Given the description of an element on the screen output the (x, y) to click on. 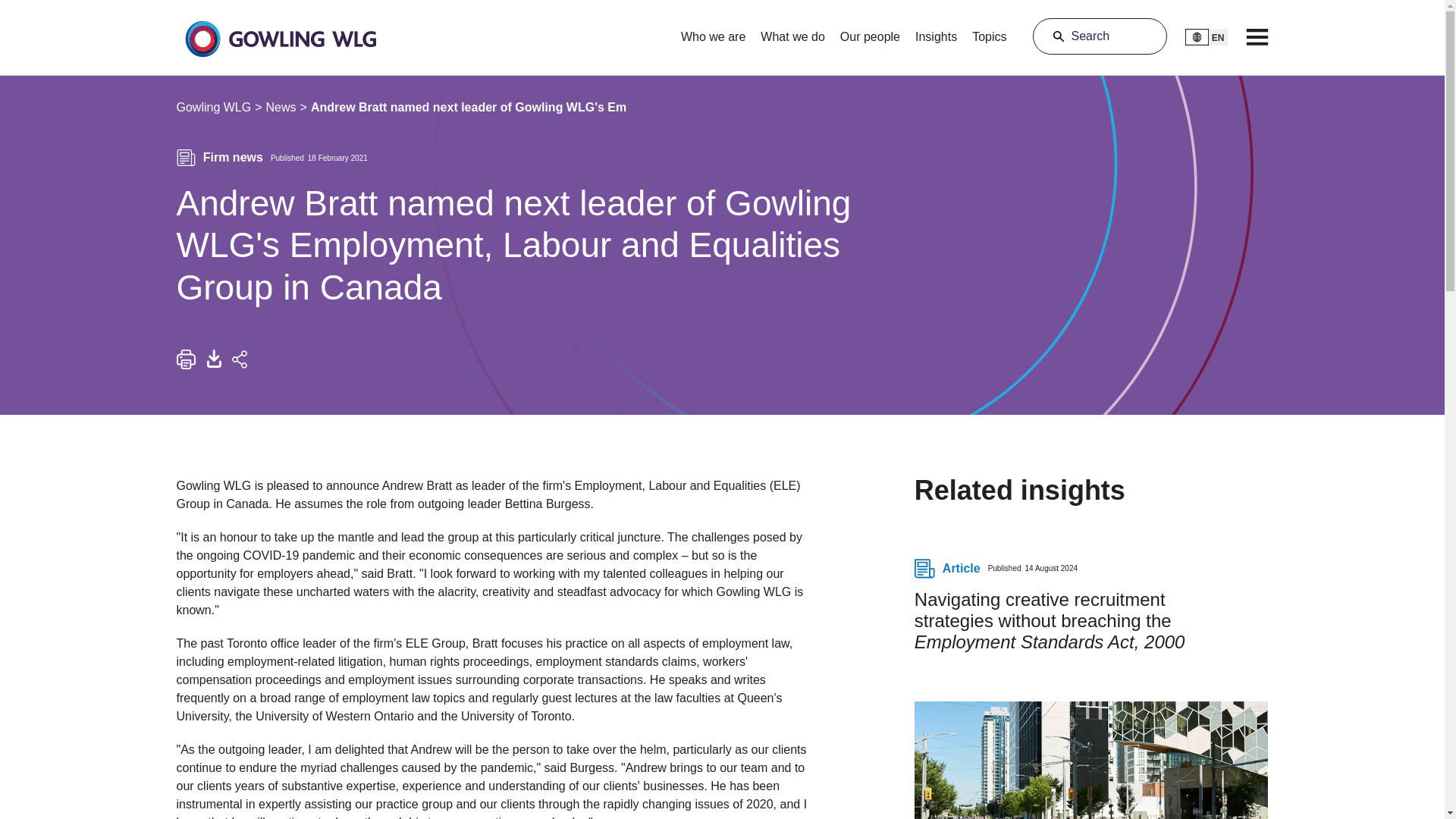
Our people (869, 31)
Share (238, 359)
News (281, 107)
Print (185, 359)
Topics (988, 31)
EN (1206, 36)
Gowling WLG (213, 107)
Gowling WLG (213, 107)
Insights (935, 31)
